Given the description of an element on the screen output the (x, y) to click on. 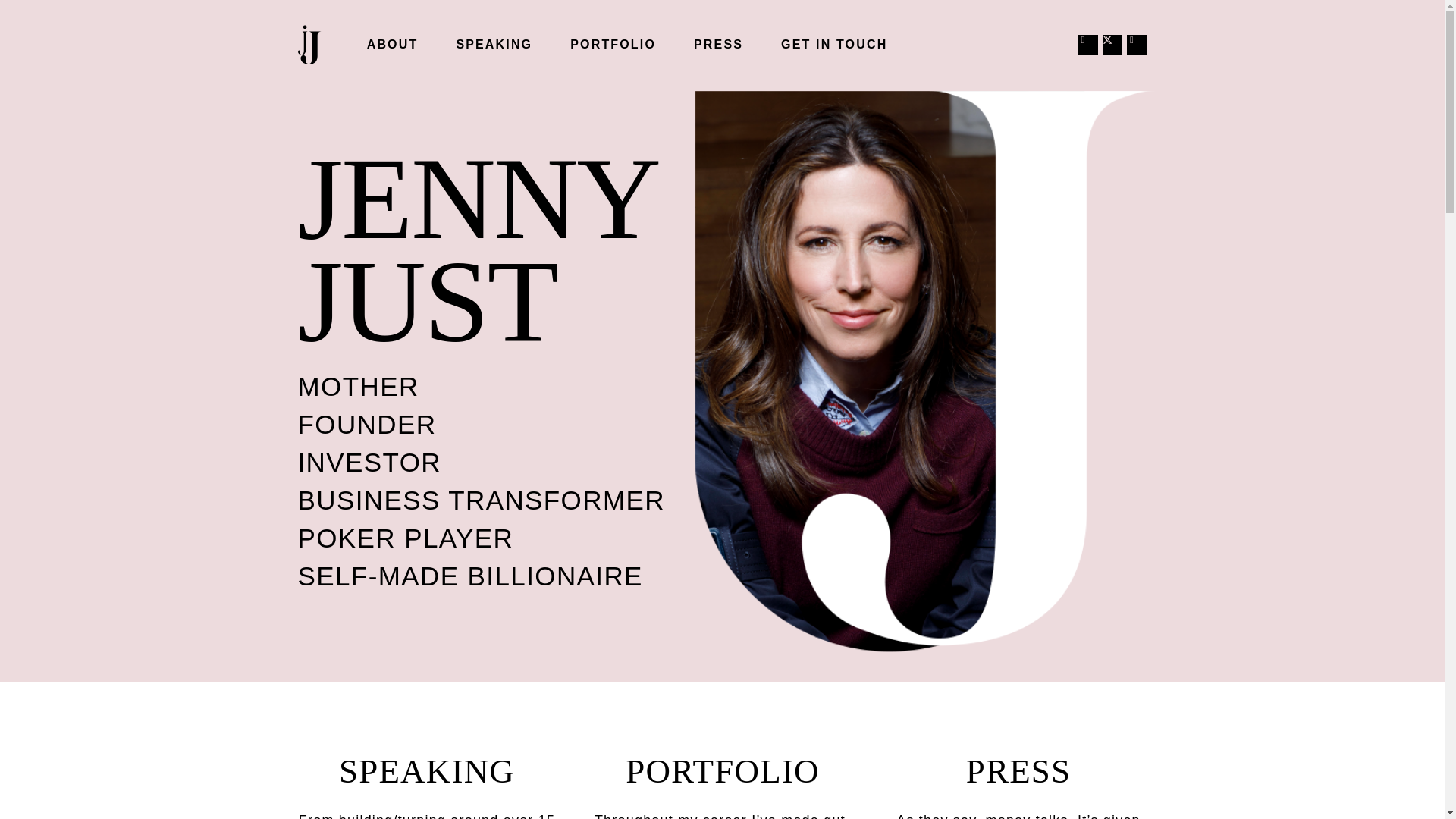
PORTFOLIO (613, 44)
PRESS (718, 44)
GET IN TOUCH (833, 44)
ABOUT (392, 44)
SPEAKING (493, 44)
